Given the description of an element on the screen output the (x, y) to click on. 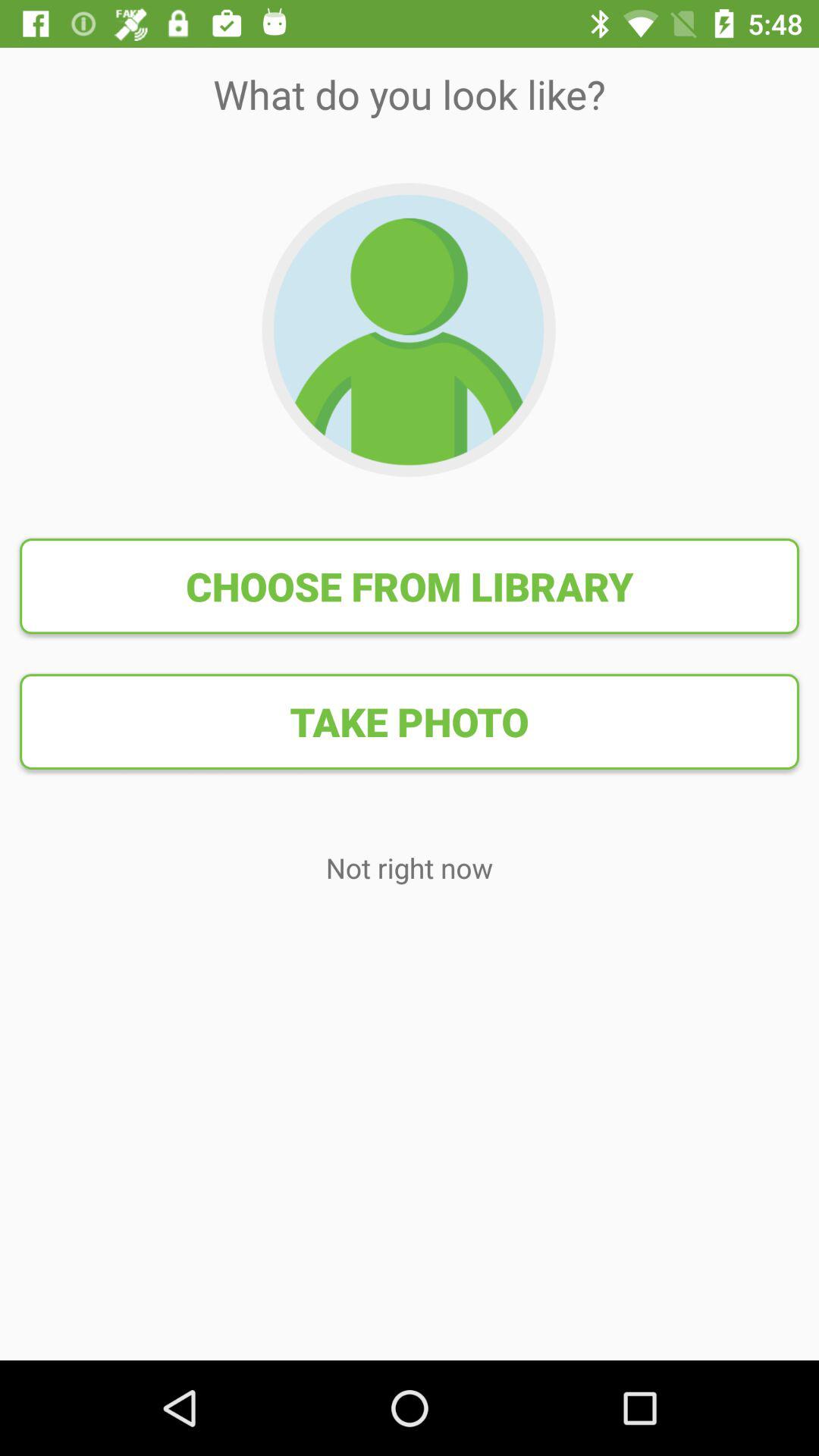
jump to the choose from library (409, 586)
